Given the description of an element on the screen output the (x, y) to click on. 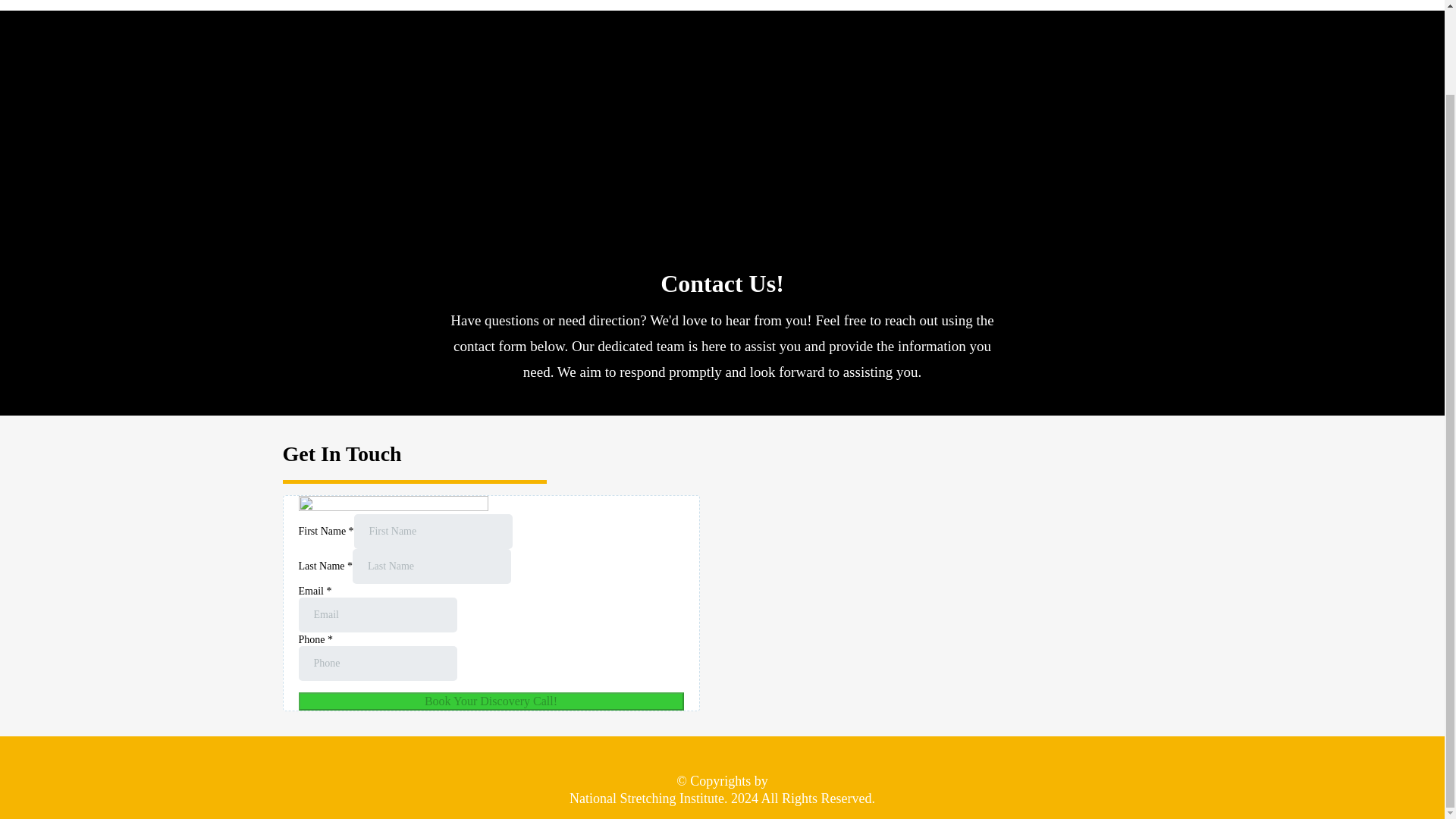
Book Your Discovery Call! (491, 701)
